Given the description of an element on the screen output the (x, y) to click on. 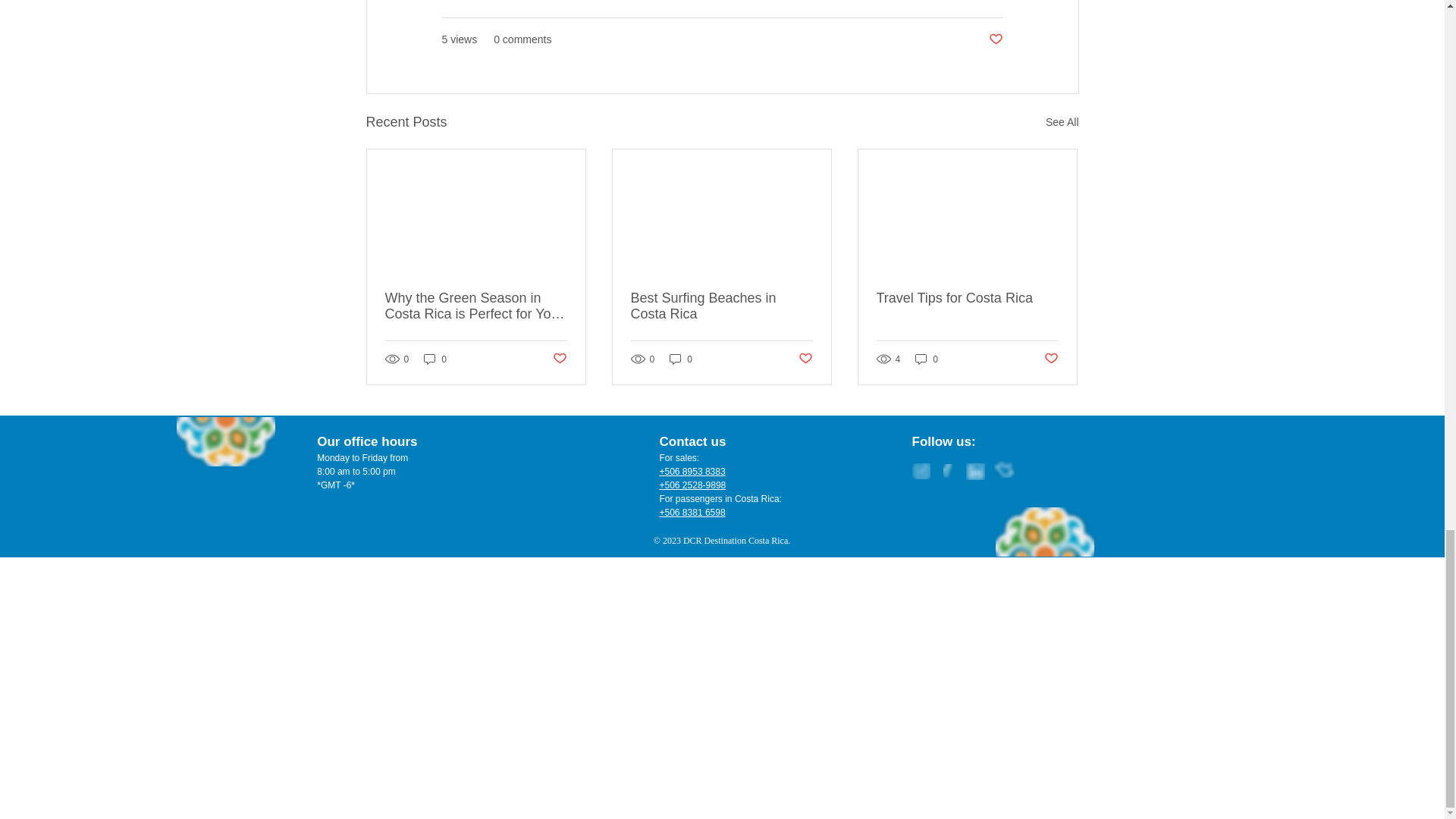
See All (1061, 122)
0 (435, 359)
Post not marked as liked (995, 39)
0 (681, 359)
Best Surfing Beaches in Costa Rica (721, 306)
Post not marked as liked (804, 358)
Post not marked as liked (1050, 358)
Travel Tips for Costa Rica (967, 298)
0 (926, 359)
Post not marked as liked (558, 358)
